Given the description of an element on the screen output the (x, y) to click on. 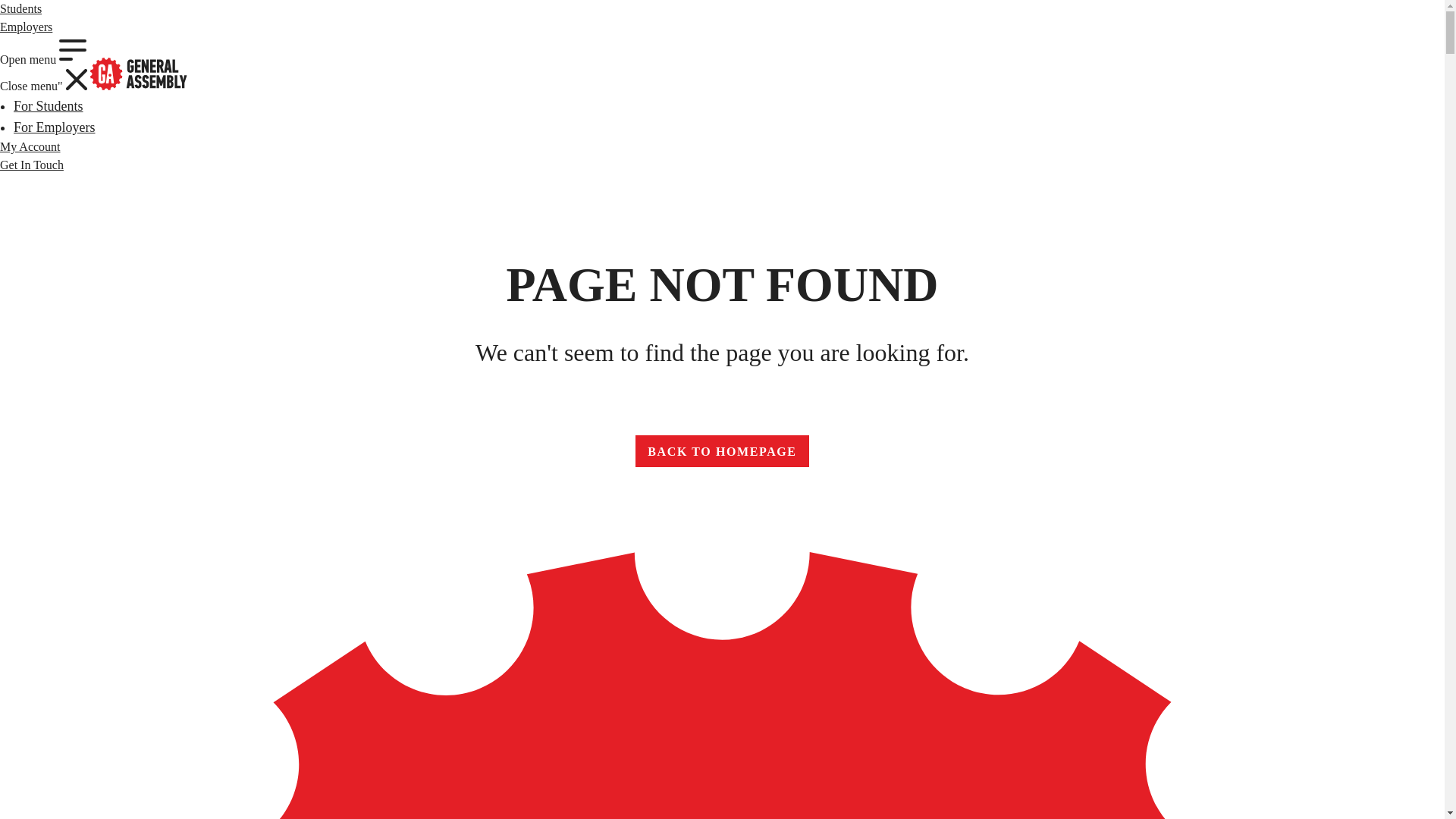
Employers (26, 26)
For Employers (43, 65)
My Account (54, 127)
Get In Touch (30, 146)
BACK TO HOMEPAGE (32, 164)
Students (721, 450)
For Students (21, 8)
